Given the description of an element on the screen output the (x, y) to click on. 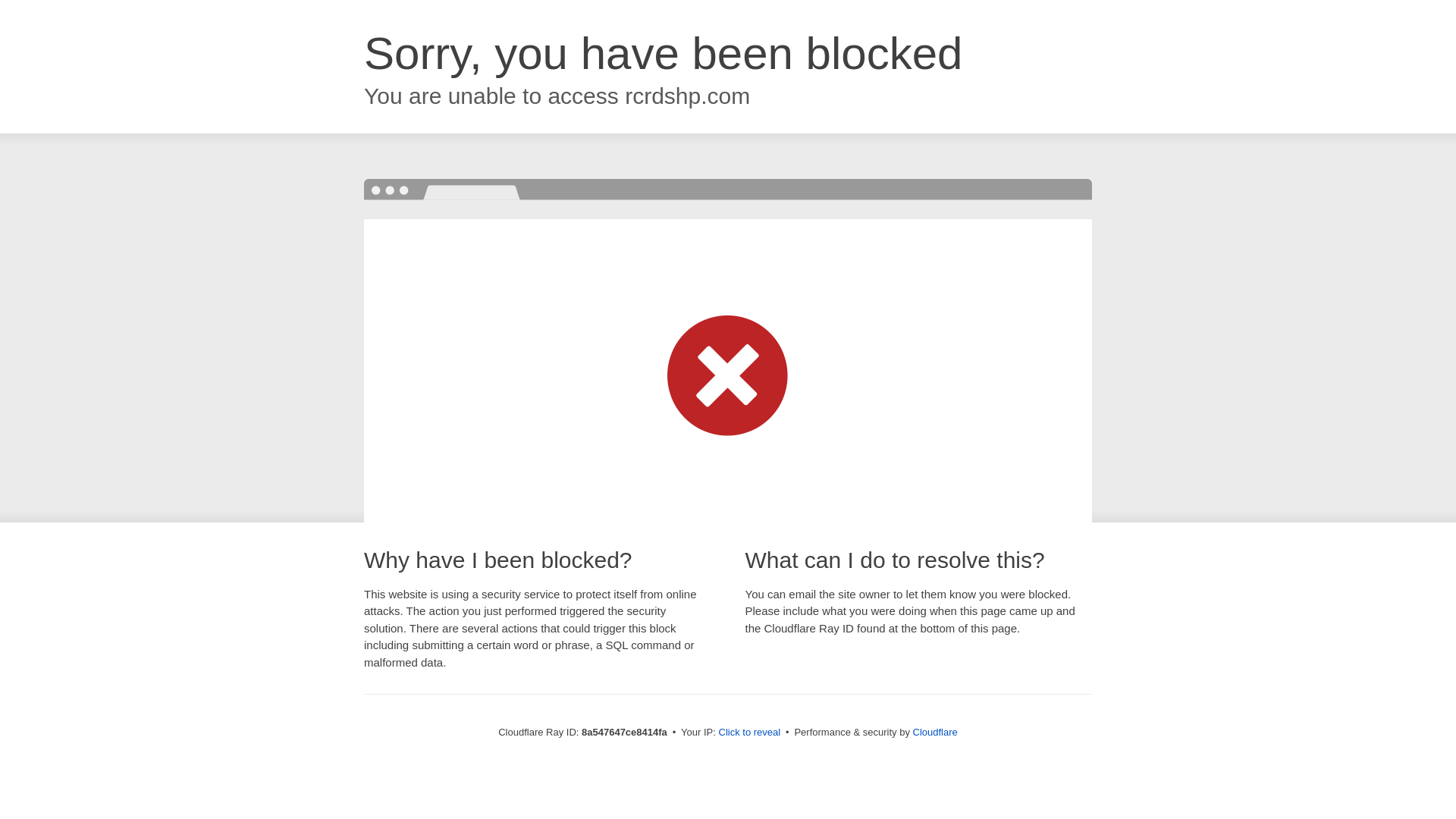
Click to reveal (749, 732)
Cloudflare (935, 731)
